Given the description of an element on the screen output the (x, y) to click on. 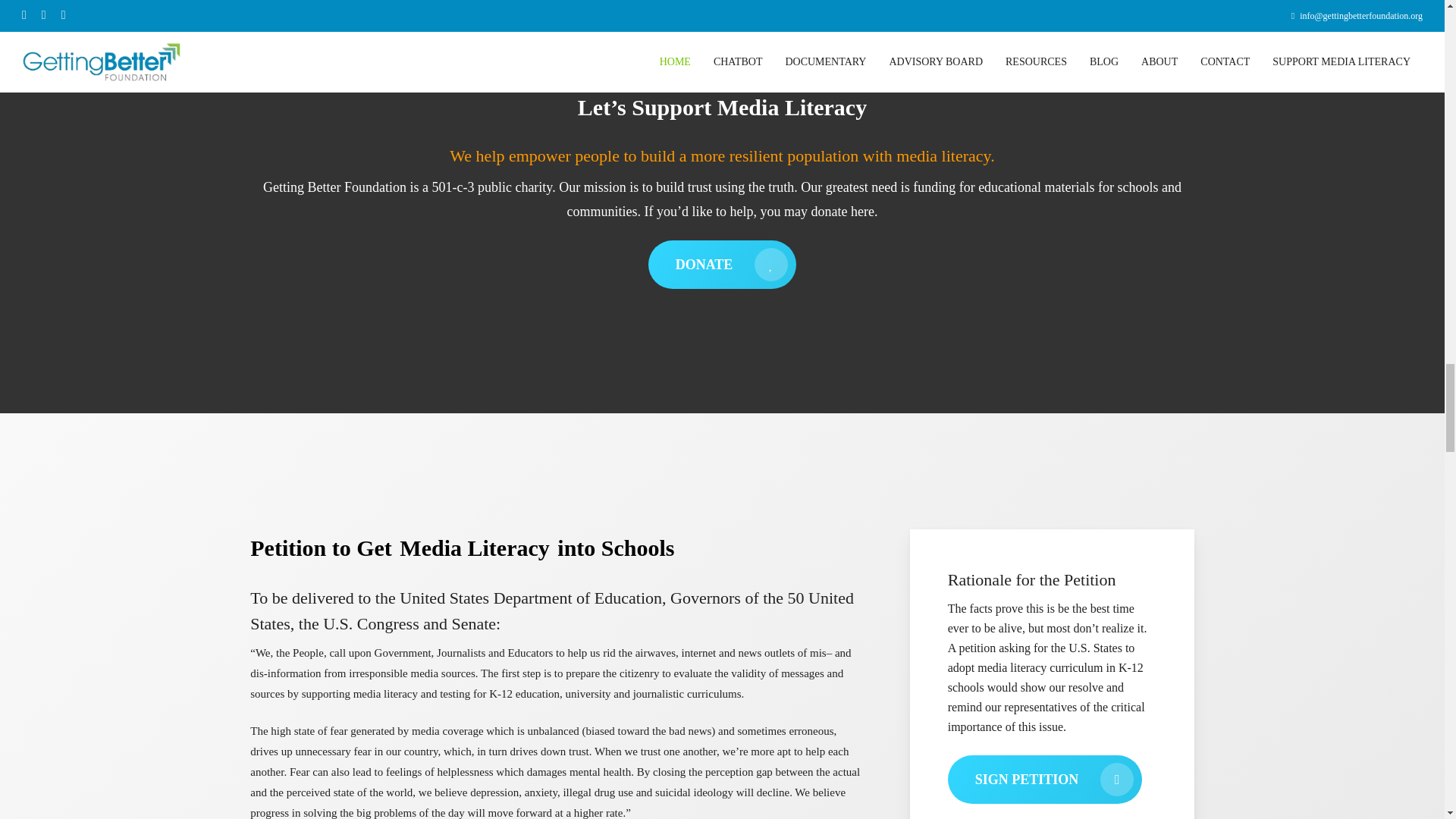
DONATE (721, 264)
SIGN PETITION (1044, 779)
